Given the description of an element on the screen output the (x, y) to click on. 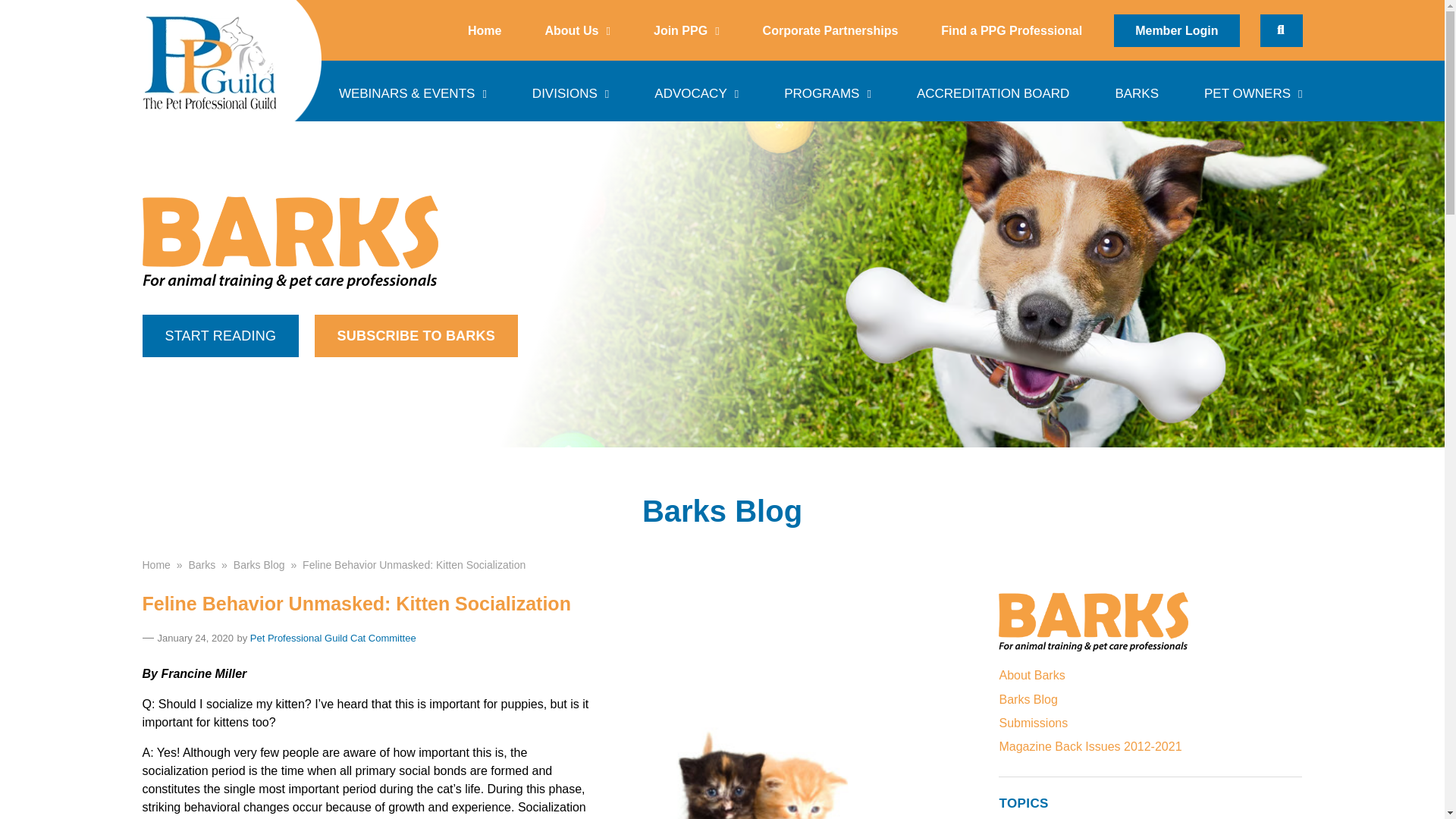
Home (484, 30)
Find a PPG Professional (1011, 30)
Go to Barks. (201, 563)
Member Login (1176, 29)
Corporate Partnerships (830, 30)
Join PPG (686, 30)
Go to Pet Professional Guild. (156, 563)
Go to Barks Blog. (258, 563)
About Us (576, 30)
DIVISIONS (570, 90)
